Given the description of an element on the screen output the (x, y) to click on. 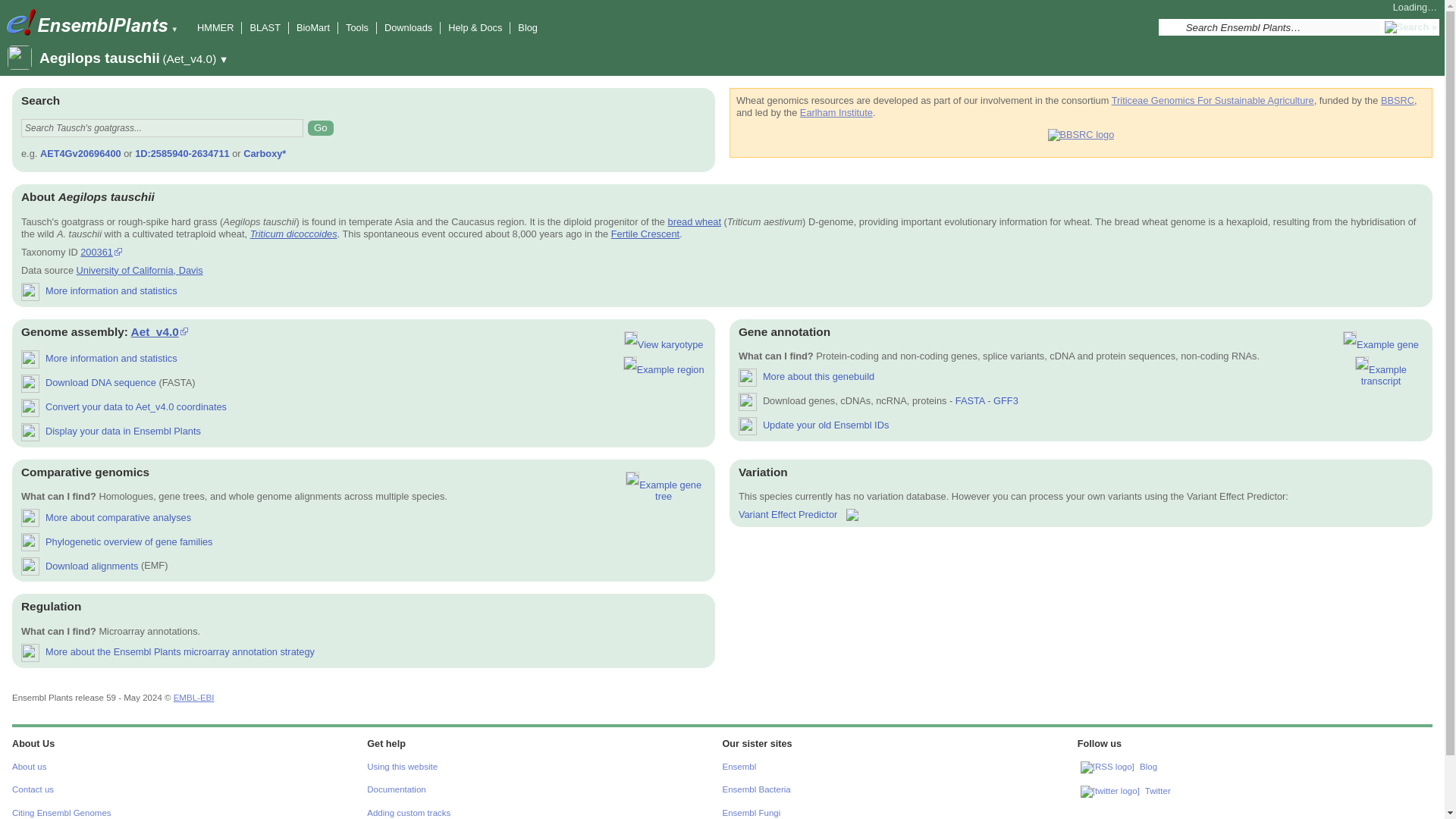
Go to gene tree for AET4Gv20696400 (663, 486)
Go to transcript AET4Gv20696400.3 (1380, 371)
Go to Aegilops tauschii karyotype (663, 340)
BioMart (313, 27)
BLAST (264, 27)
Go to 1D:2585940-2634711 (663, 365)
Tools (357, 27)
Search Tausch's goatgrass... (161, 127)
Go to gene AET4Gv20696400 (1380, 340)
Go (320, 127)
